Given the description of an element on the screen output the (x, y) to click on. 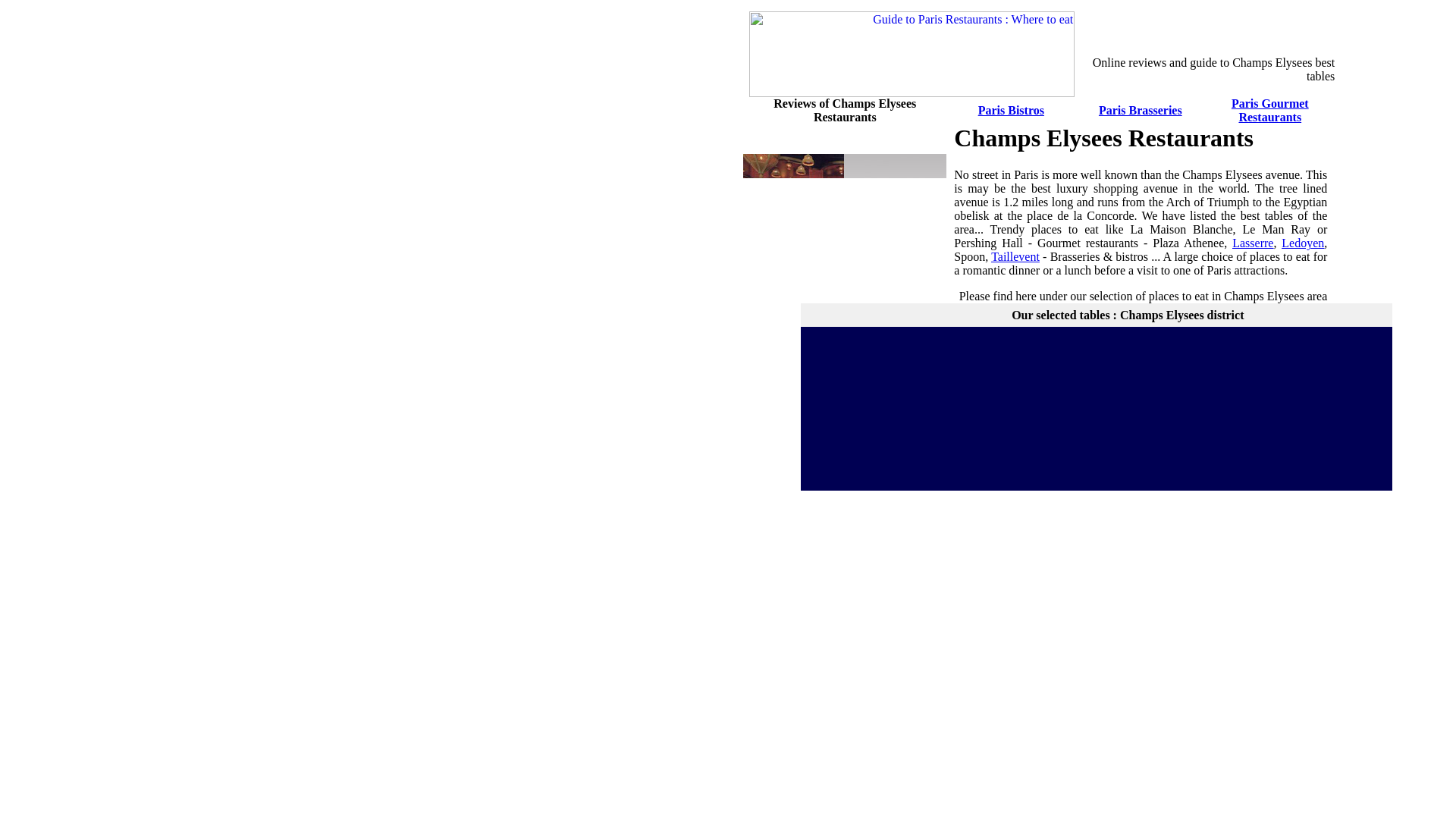
Paris Gourmet Restaurants (1269, 110)
Paris Brasseries (1140, 110)
Paris Brasseries (1140, 110)
Ledoyen (1302, 242)
Paris Bistros (1010, 110)
Paris Bistros (1010, 110)
Taillevent (1015, 256)
Lasserre (1251, 242)
Paris Gourmet Restaurants (1269, 110)
